Given the description of an element on the screen output the (x, y) to click on. 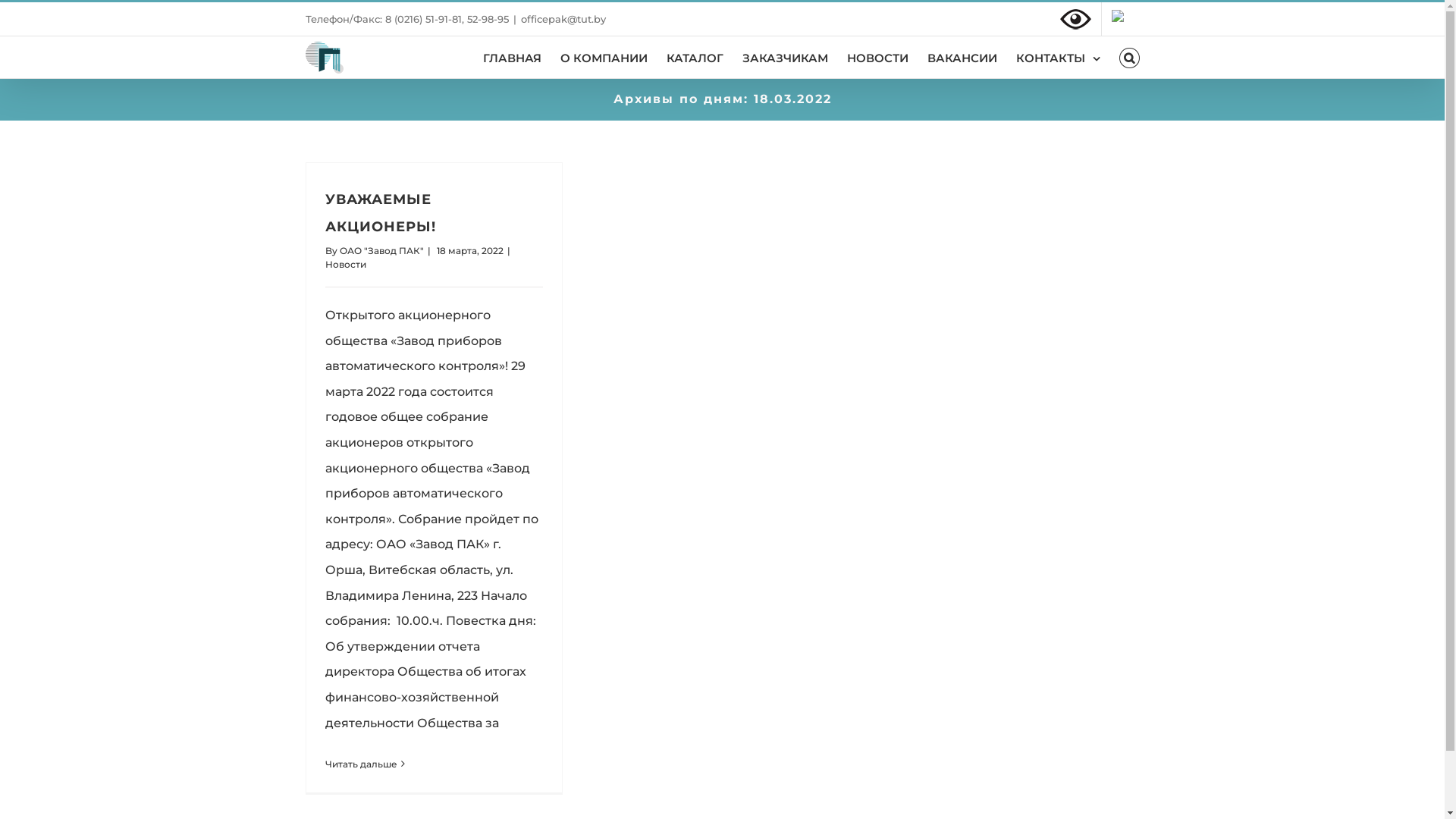
officepak@tut.by Element type: text (562, 18)
